Given the description of an element on the screen output the (x, y) to click on. 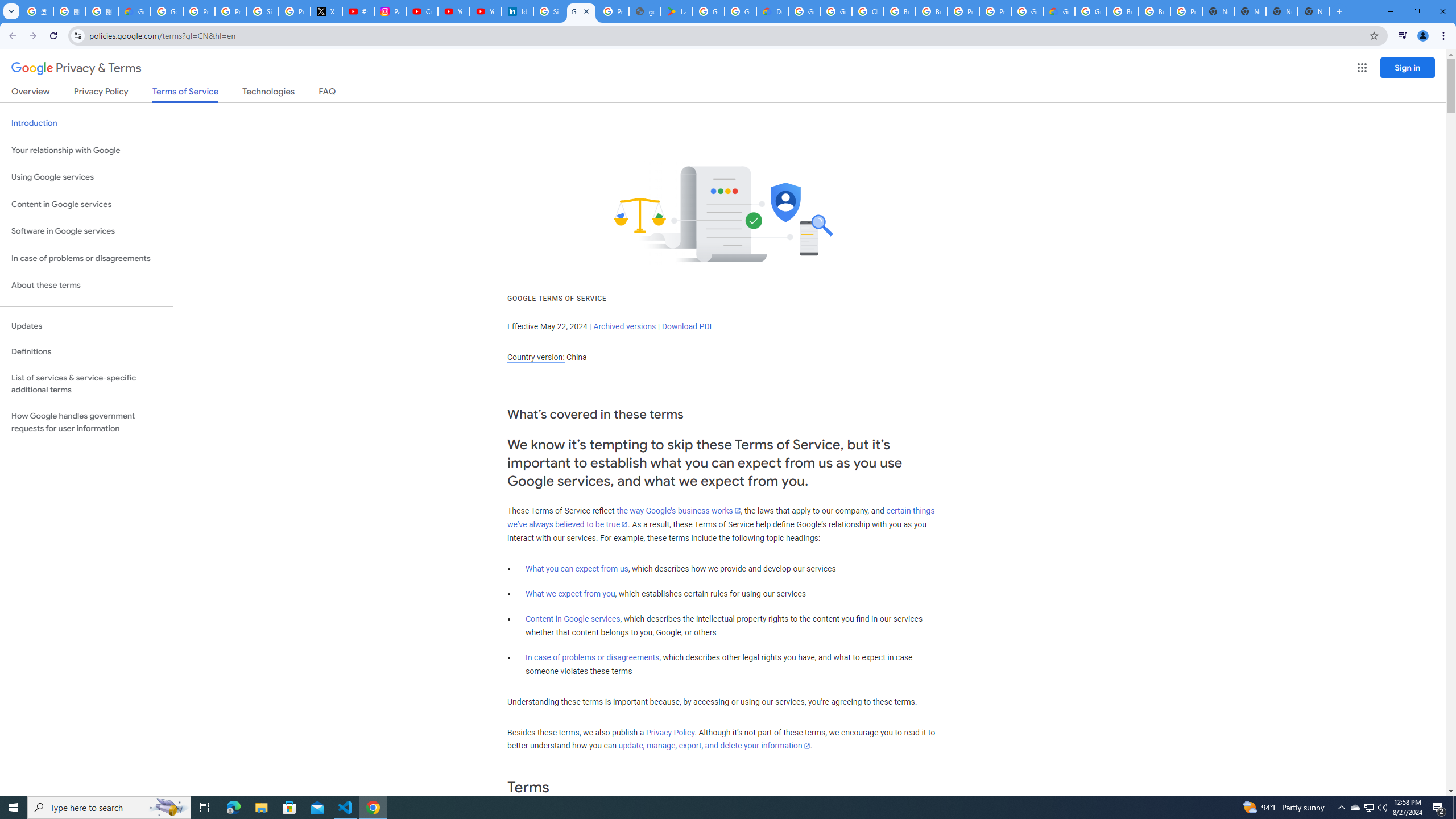
Sign in - Google Accounts (549, 11)
Sign in - Google Accounts (262, 11)
